Given the description of an element on the screen output the (x, y) to click on. 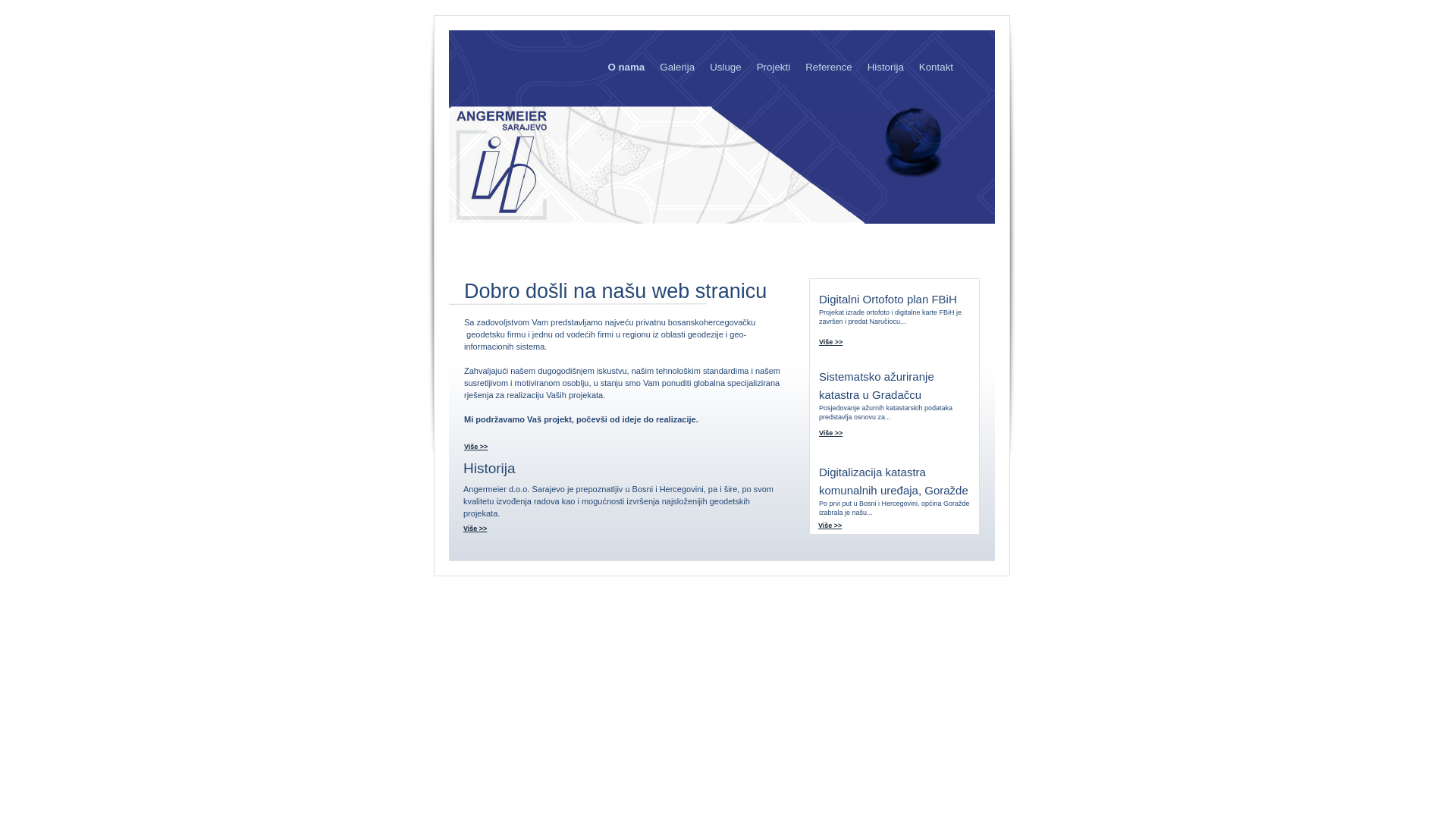
Historija Element type: text (885, 66)
Galerija Element type: text (676, 66)
O nama Element type: text (625, 66)
Projekti Element type: text (773, 66)
Kontakt Element type: text (936, 66)
Reference Element type: text (828, 66)
Usluge Element type: text (725, 66)
